Given the description of an element on the screen output the (x, y) to click on. 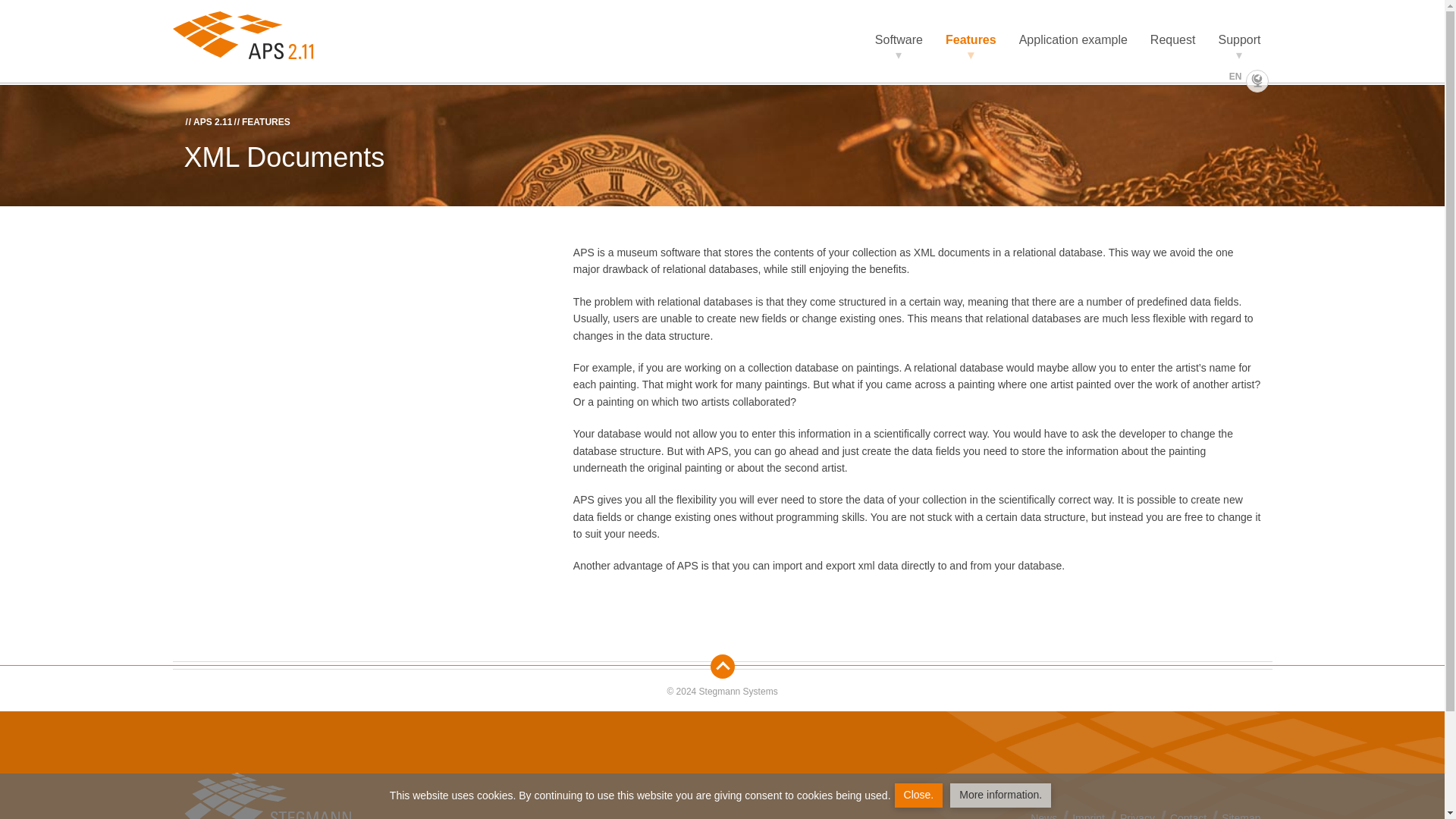
Software (898, 40)
Features (970, 40)
Software (898, 40)
Request (1172, 40)
Support (1239, 40)
Features (970, 40)
APS 2.11 (212, 122)
FEATURES (265, 122)
Application example (1072, 40)
